Given the description of an element on the screen output the (x, y) to click on. 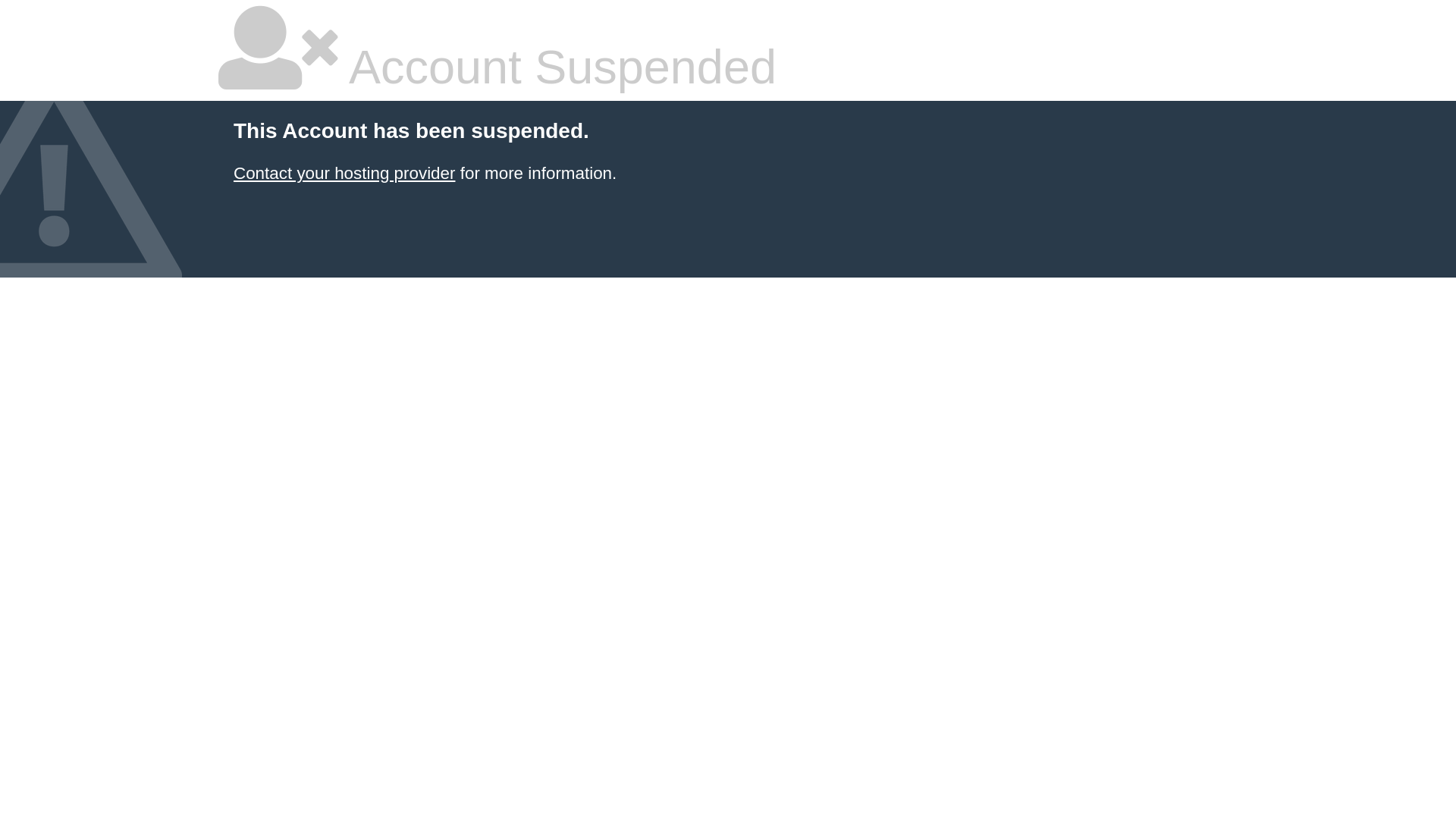
Contact your hosting provider Element type: text (344, 172)
